Given the description of an element on the screen output the (x, y) to click on. 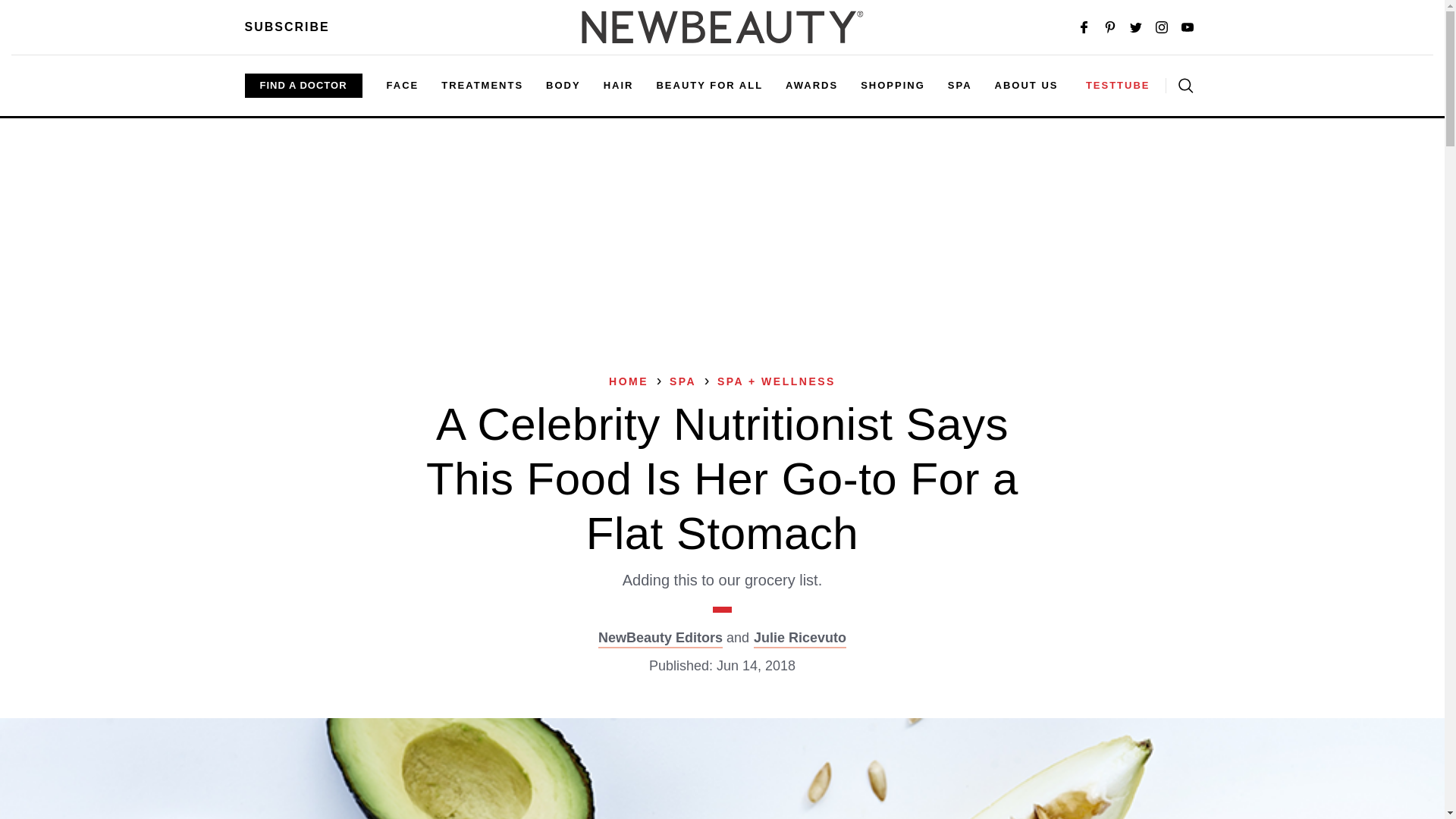
FIND A DOCTOR (302, 85)
Pinterest (1109, 27)
FACE (402, 85)
TREATMENTS (481, 85)
Twitter (1135, 27)
NewBeauty (722, 26)
Instagram (1161, 27)
SUBSCRIBE (286, 27)
Youtube (1186, 27)
